Given the description of an element on the screen output the (x, y) to click on. 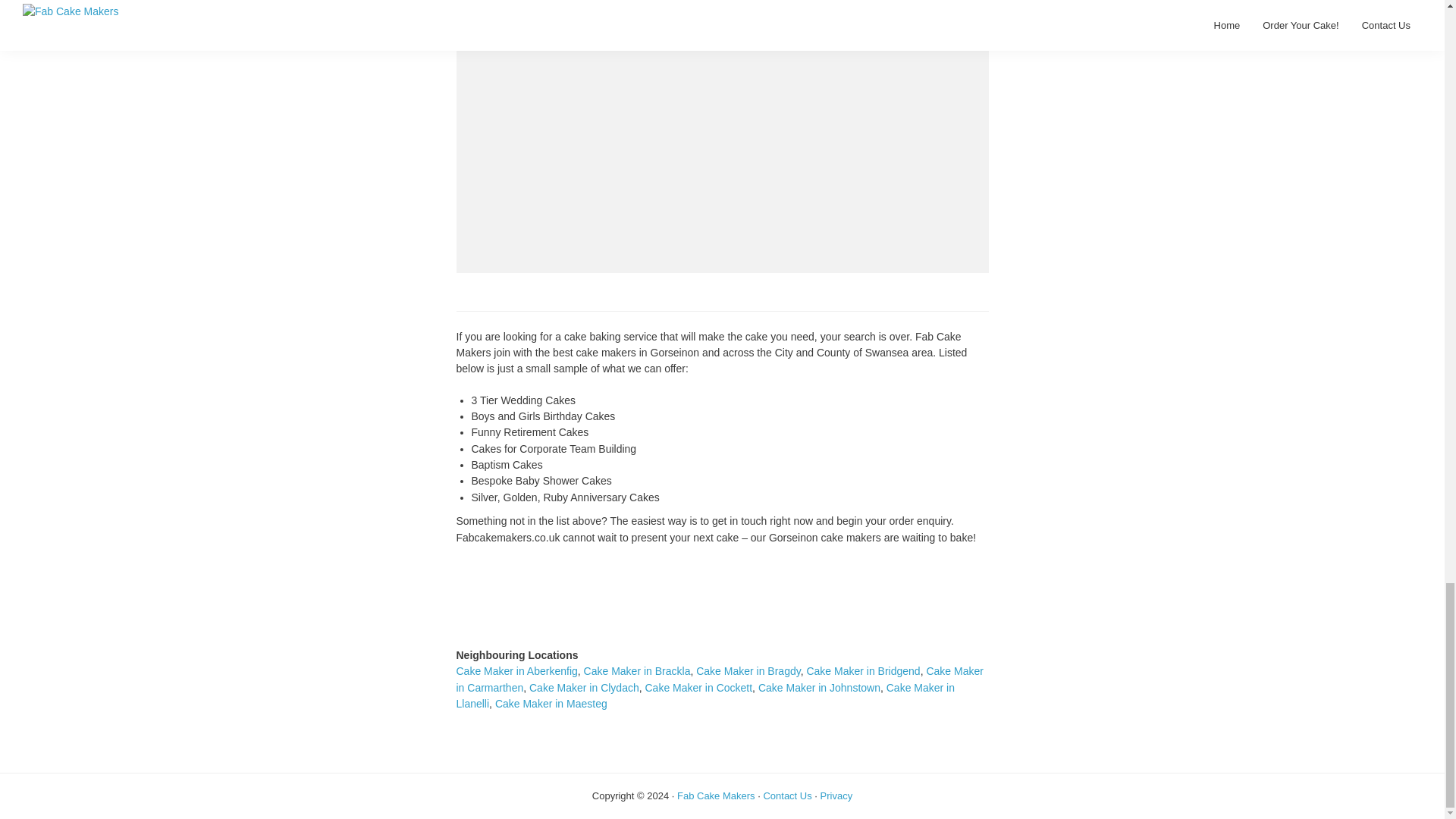
Cake Maker in Brackla (636, 671)
Cake Maker in Brackla (636, 671)
Cake Maker in Bragdy (747, 671)
Cake Maker in Llanelli (706, 695)
Fab Cake Makers (716, 795)
Cake Maker in Cockett (698, 687)
Cake Maker in Johnstown (819, 687)
Cake Maker in Aberkenfig (517, 671)
Cake Maker in Aberkenfig (517, 671)
Contact Us (786, 795)
